Given the description of an element on the screen output the (x, y) to click on. 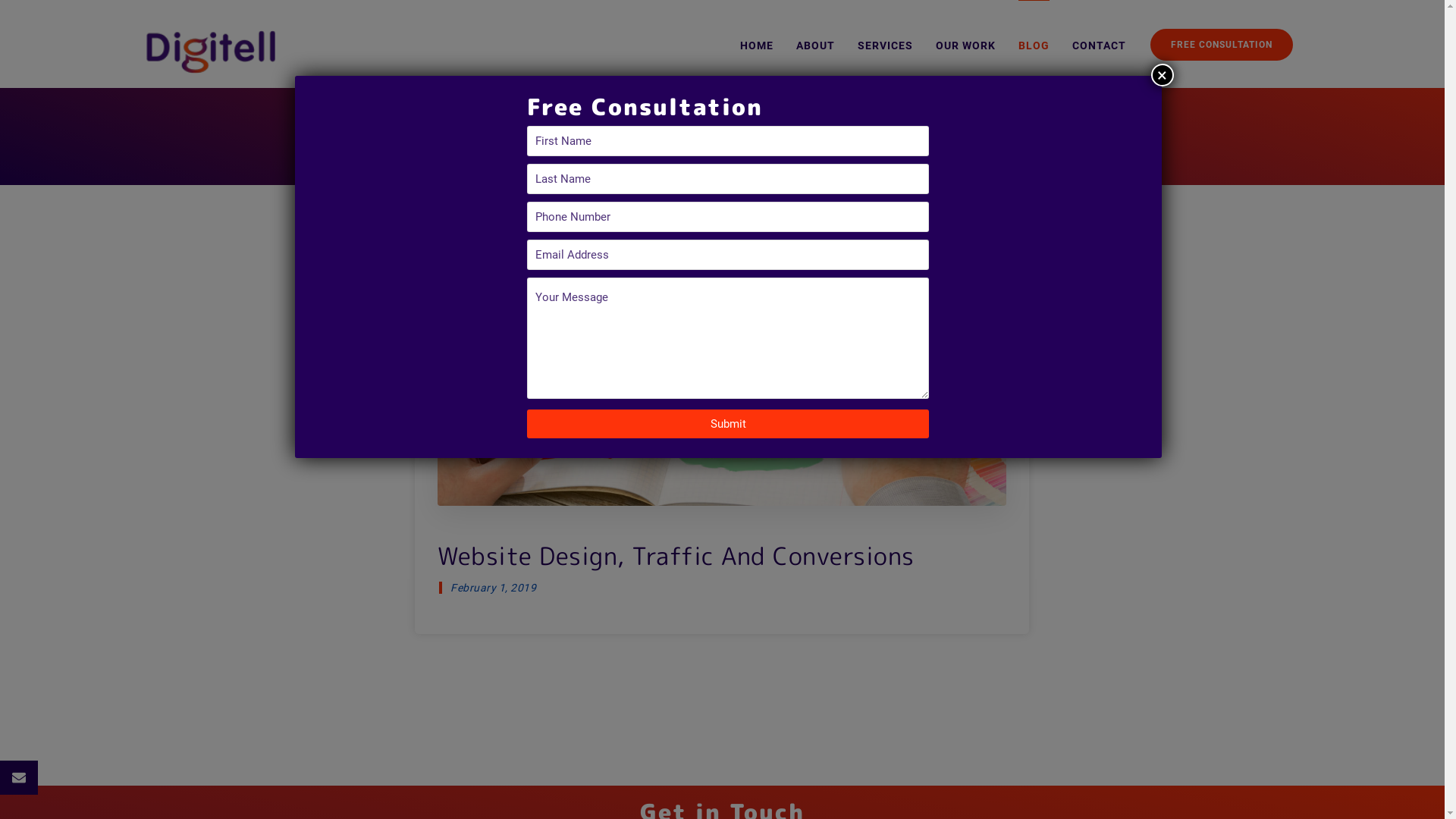
Submit Element type: text (728, 423)
FREE CONSULTATION Element type: text (1220, 44)
Website Design, Traffic And Conversions Element type: text (721, 550)
HOME Element type: text (756, 50)
BLOG Element type: text (1032, 50)
ABOUT Element type: text (815, 50)
OUR WORK Element type: text (965, 50)
Creating Success Stories Element type: hover (210, 51)
CONTACT Element type: text (1099, 50)
SERVICES Element type: text (884, 50)
